Given the description of an element on the screen output the (x, y) to click on. 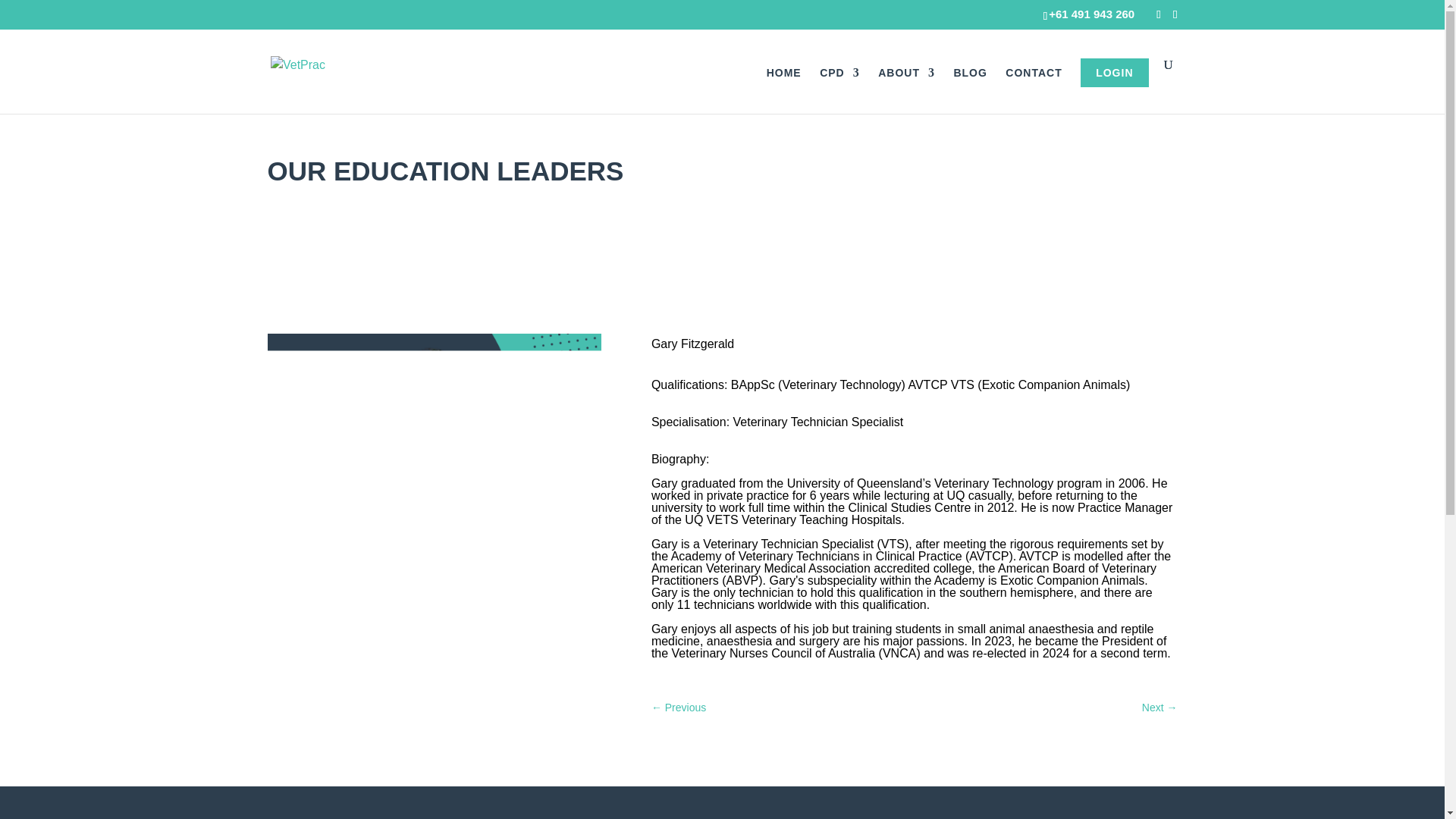
LOGIN (1114, 72)
ABOUT (905, 90)
CONTACT (1033, 90)
